Given the description of an element on the screen output the (x, y) to click on. 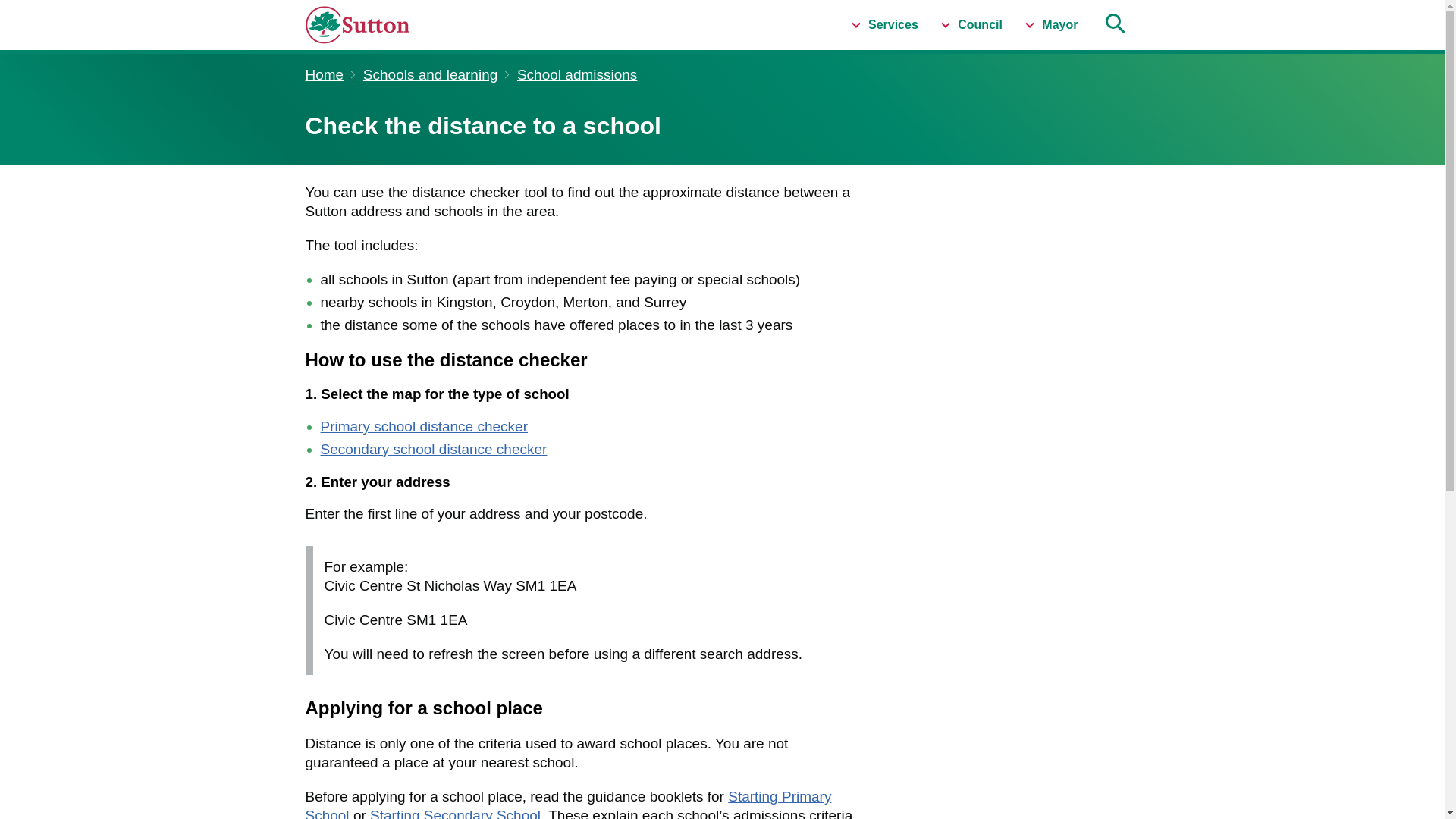
Mayor (1051, 24)
Schools and learning (429, 74)
Starting Primary School (567, 803)
Services (885, 24)
Primary school distance checker (423, 426)
Secondary school distance checker (433, 449)
Council (971, 24)
Skip to main content (11, 7)
Starting Secondary School (454, 813)
Home (323, 74)
Sutton.gov.uk (387, 24)
Search Sutton.gov.uk (1113, 24)
School admissions (576, 74)
